Given the description of an element on the screen output the (x, y) to click on. 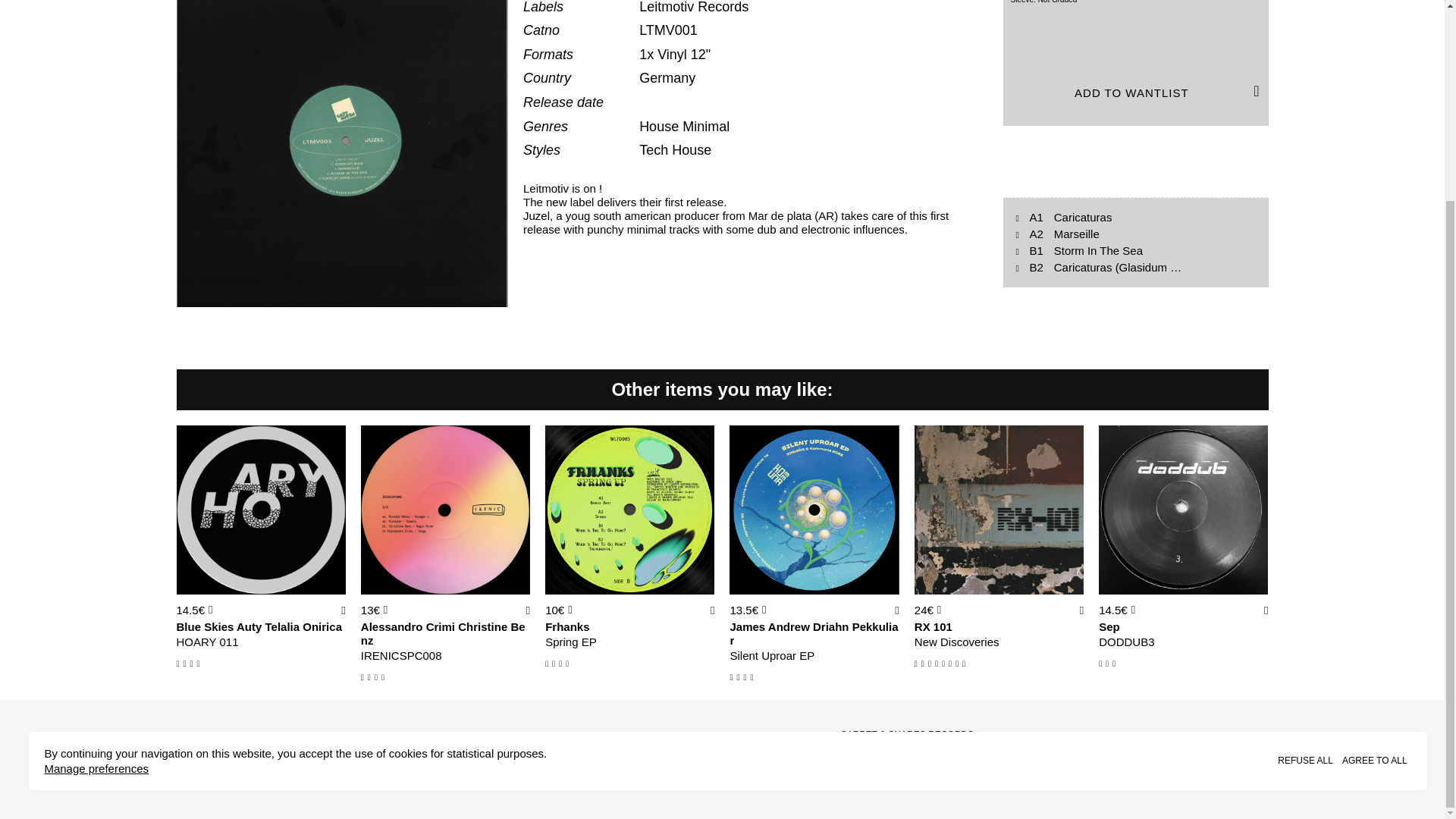
REFUSE ALL (1305, 504)
Manage preferences (95, 512)
Leitmotiv Records (693, 7)
Auty (248, 626)
House (660, 126)
HOARY 011 (260, 642)
AGREE TO ALL (1375, 504)
Germany (667, 77)
Minimal (705, 126)
Telalia (281, 626)
ADD TO WANTLIST (1135, 92)
Tech House (675, 150)
Blue Skies (204, 626)
Onirica (322, 626)
